Given the description of an element on the screen output the (x, y) to click on. 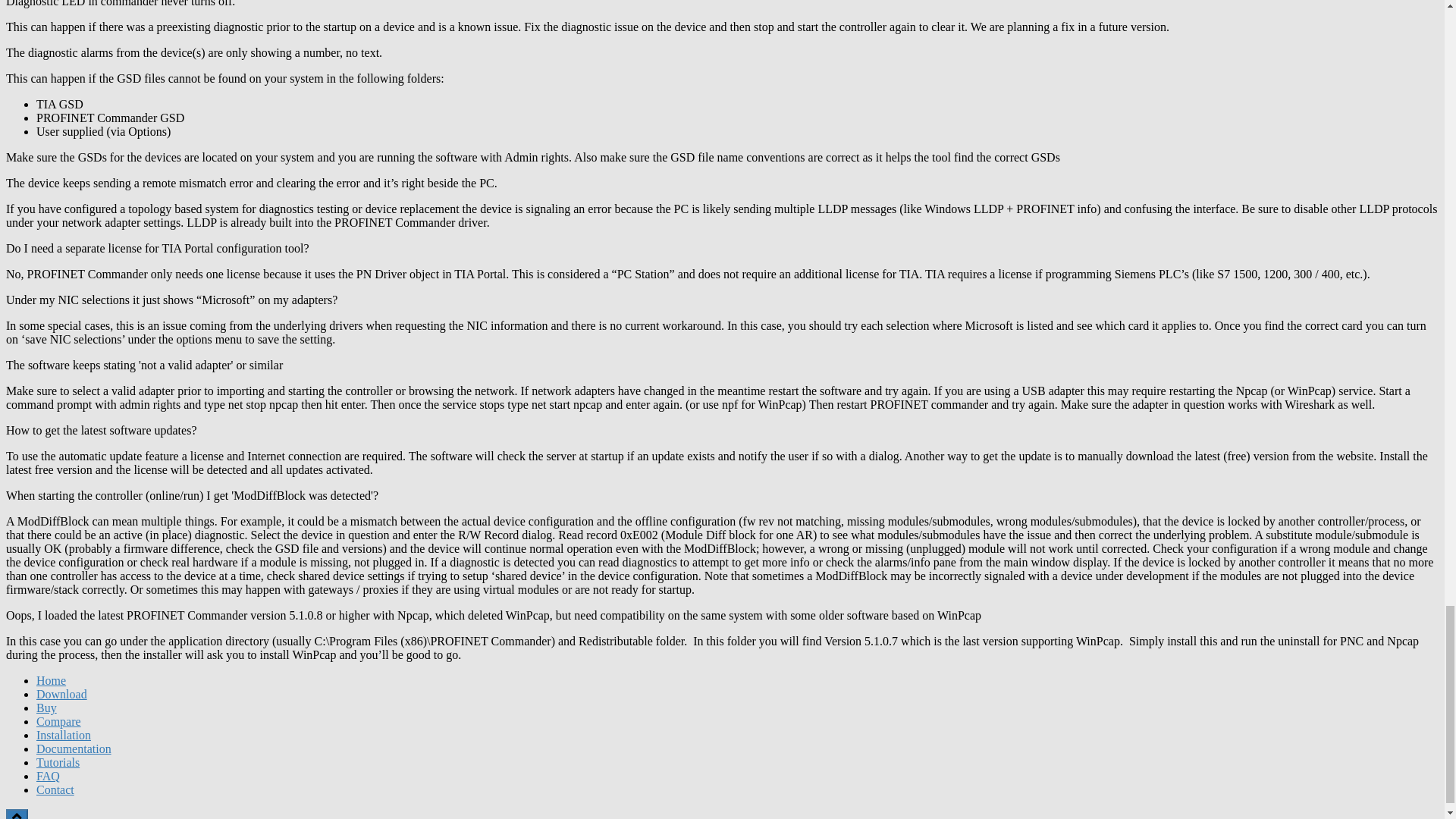
Buy (46, 707)
Installation (63, 735)
FAQ (47, 775)
Contact (55, 789)
Compare (58, 721)
Documentation (74, 748)
Tutorials (58, 762)
Download (61, 694)
Home (50, 680)
